Given the description of an element on the screen output the (x, y) to click on. 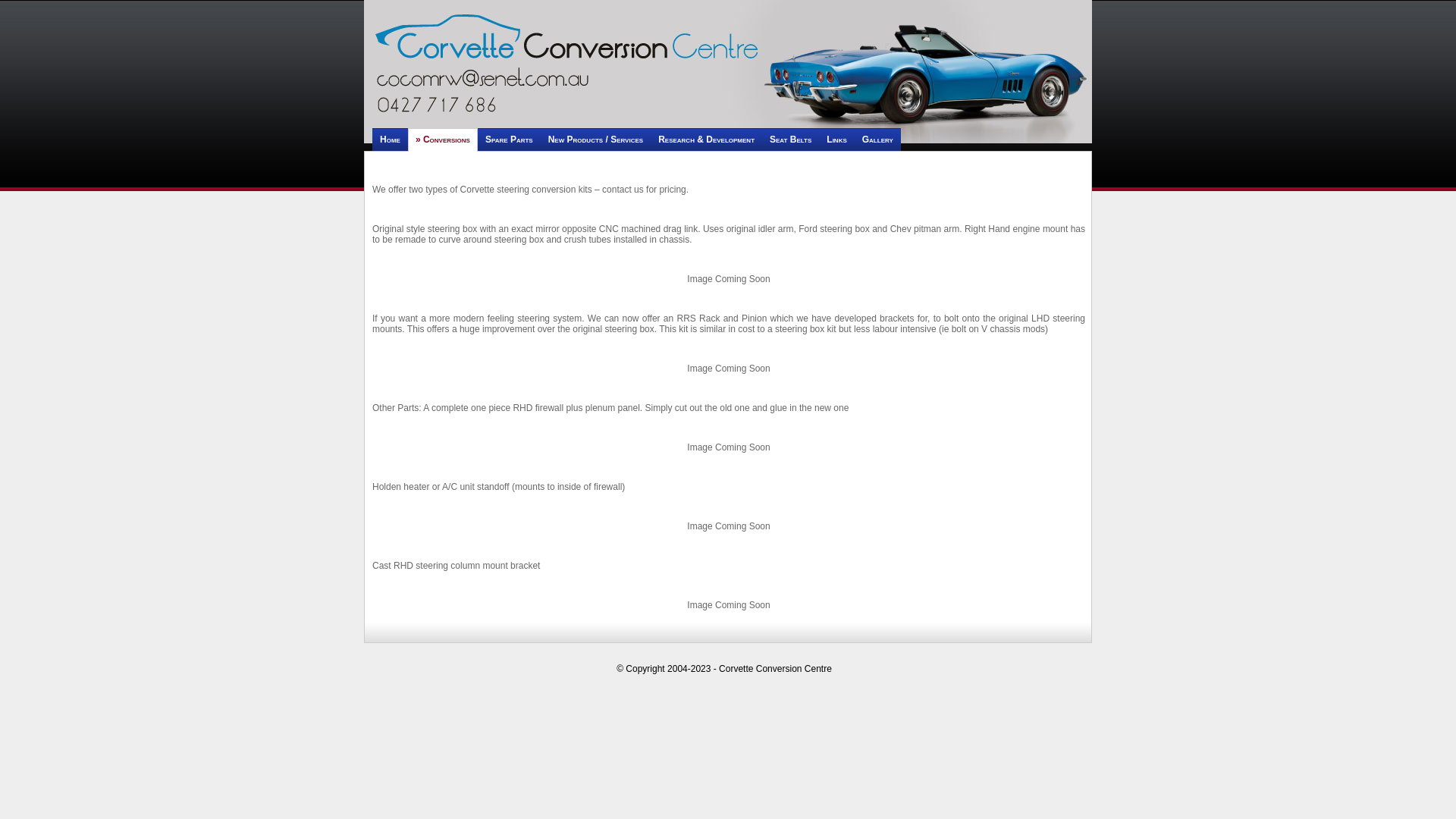
Gallery Element type: text (877, 139)
Links Element type: text (836, 139)
Seat Belts Element type: text (790, 139)
Spare Parts Element type: text (508, 139)
Home Element type: text (389, 139)
Research & Development Element type: text (706, 139)
New Products / Services Element type: text (595, 139)
